Given the description of an element on the screen output the (x, y) to click on. 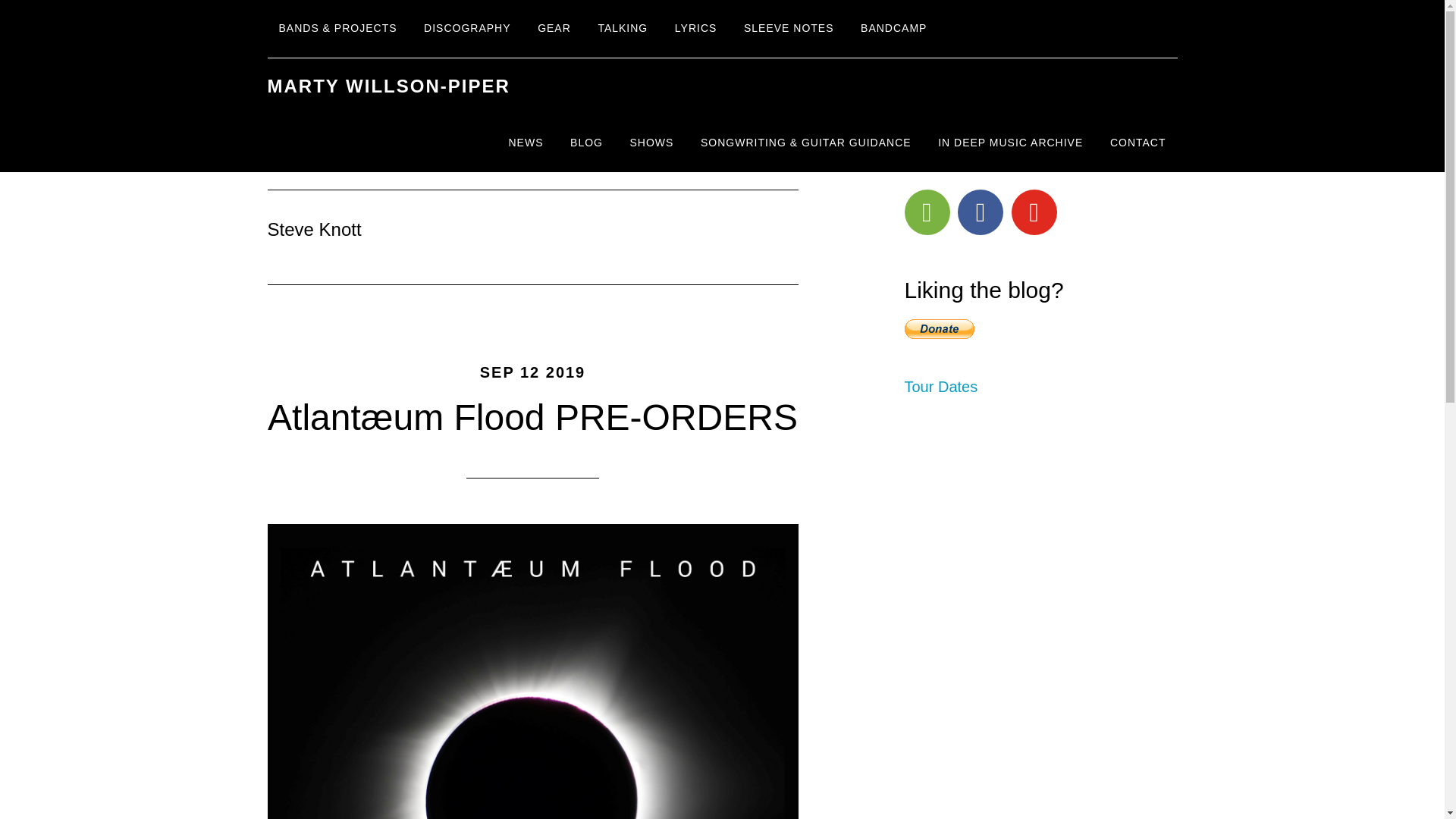
Facebook (980, 212)
PayPal - The safer, easier way to pay online! (939, 329)
LYRICS (696, 28)
YouTube (1034, 212)
SLEEVE NOTES (788, 28)
Spotify (926, 212)
TALKING (622, 28)
GEAR (553, 28)
DISCOGRAPHY (466, 28)
